Given the description of an element on the screen output the (x, y) to click on. 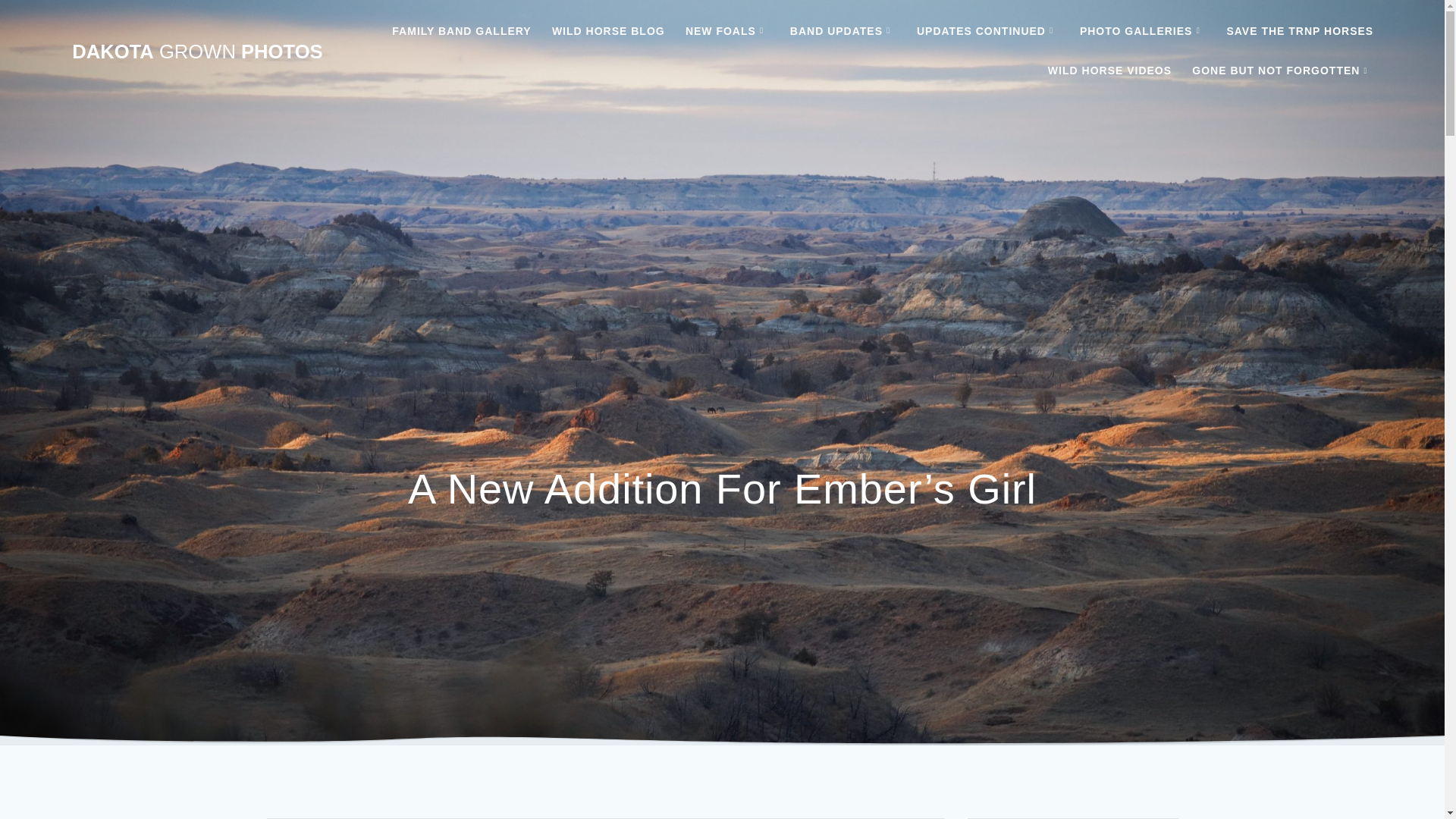
WILD HORSE BLOG (608, 31)
UPDATES CONTINUED (988, 31)
FAMILY BAND GALLERY (461, 31)
PHOTO GALLERIES (1142, 31)
BAND UPDATES (843, 31)
NEW FOALS (727, 31)
DAKOTA GROWN PHOTOS (196, 52)
